Given the description of an element on the screen output the (x, y) to click on. 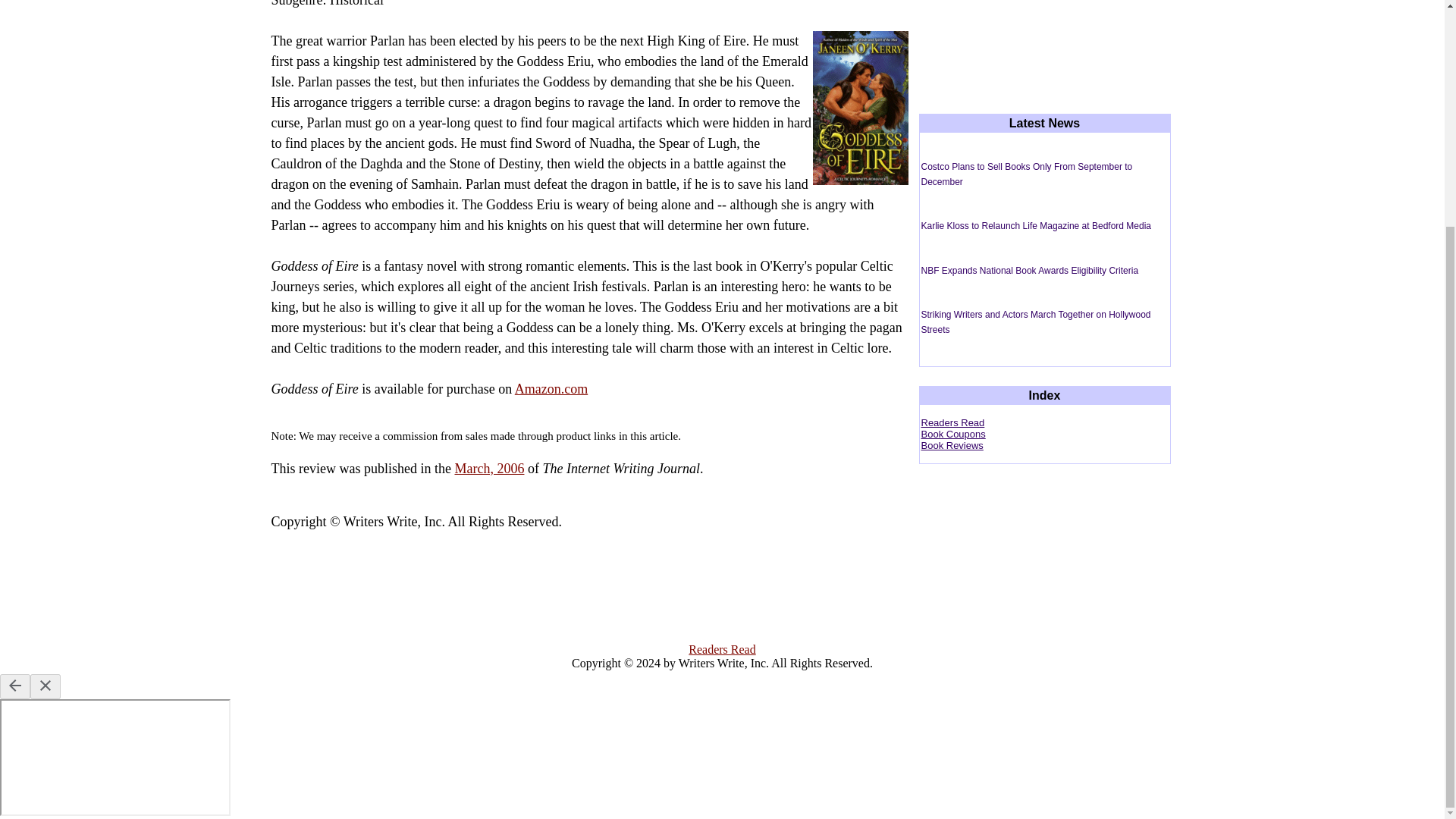
Advertisement (1045, 32)
Readers Read (952, 422)
Amazon.com (551, 388)
Karlie Kloss to Relaunch Life Magazine at Bedford Media (1035, 225)
Costco Plans to Sell Books Only From September to December (1026, 174)
Book Reviews (951, 445)
NBF Expands National Book Awards Eligibility Criteria (1029, 270)
Book Coupons (952, 433)
Readers Read (721, 649)
